Given the description of an element on the screen output the (x, y) to click on. 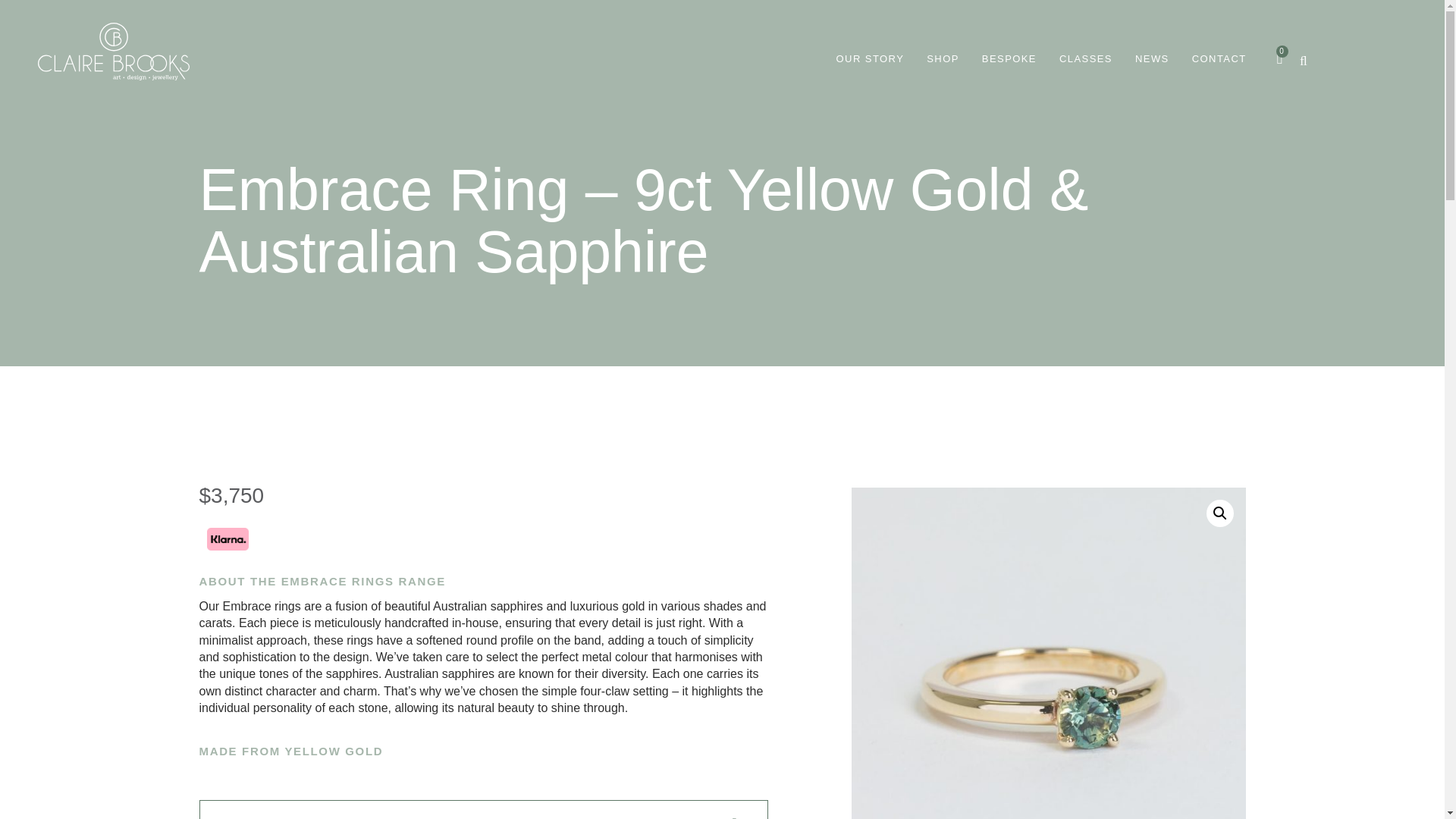
NEWS (1152, 58)
OUR STORY (869, 58)
BESPOKE (1008, 58)
0 (1280, 57)
ABOUT THIS PRODUCT (305, 817)
SHOP (942, 58)
CLASSES (1085, 58)
CONTACT (1219, 58)
